Given the description of an element on the screen output the (x, y) to click on. 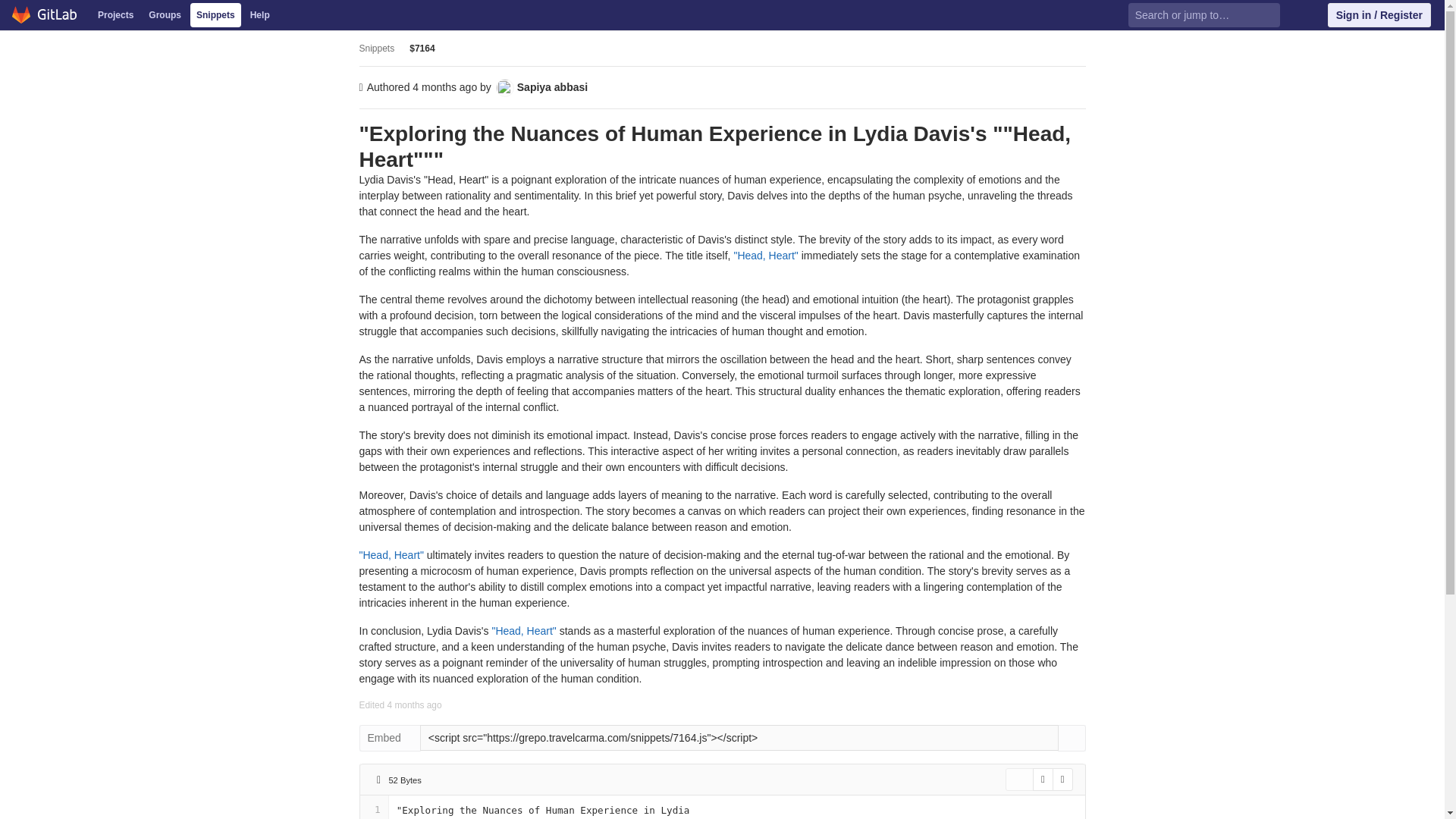
"Head, Heart" (391, 554)
Dashboard (44, 15)
Copy file path to clipboard (441, 779)
Snippets (215, 15)
Snippets (376, 48)
Groups (164, 15)
1 (373, 810)
Help (260, 15)
Embed (389, 737)
Sapiya abbasi (541, 87)
Projects (115, 15)
Groups (164, 15)
"Head, Heart" (522, 630)
Projects (115, 15)
Copy to clipboard (1070, 737)
